Given the description of an element on the screen output the (x, y) to click on. 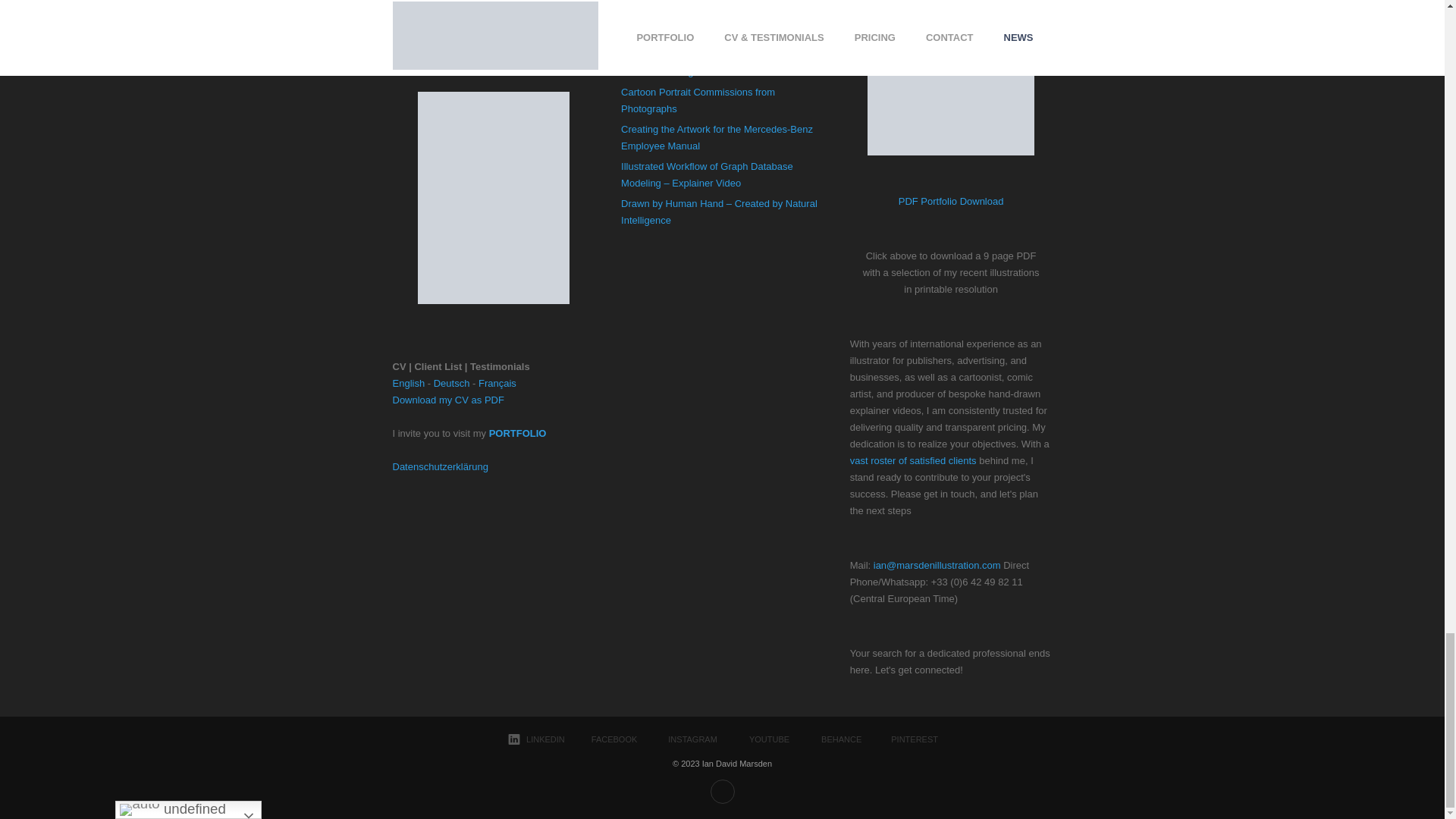
Back to top (721, 791)
Behance (830, 739)
YouTube (759, 739)
Instagram (682, 739)
LinkedIn (535, 739)
Facebook (606, 739)
Pinterest (904, 739)
